Given the description of an element on the screen output the (x, y) to click on. 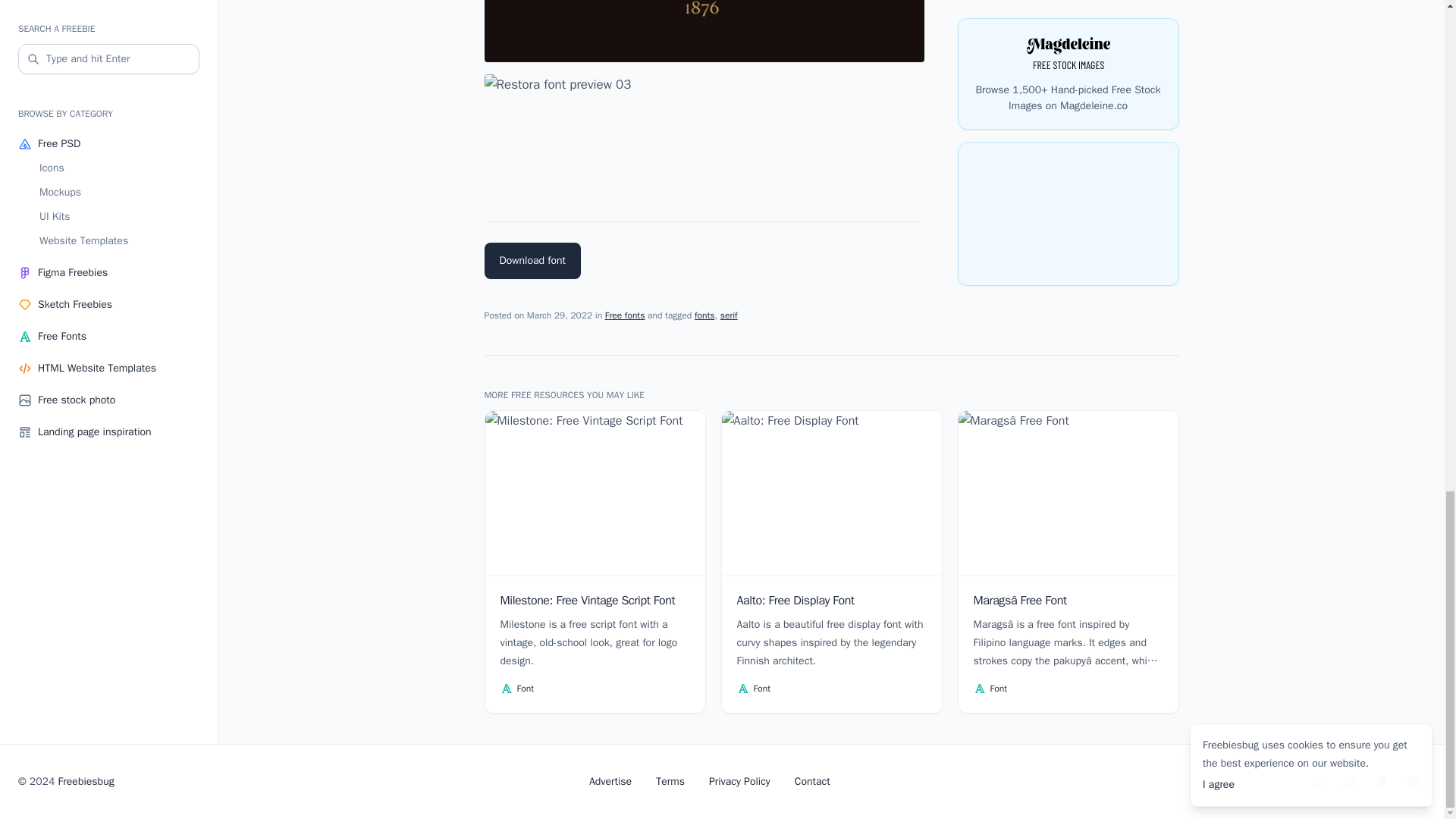
Free fonts (625, 315)
Milestone: Free Vintage Script Font (587, 599)
Privacy Policy (739, 780)
fonts (704, 315)
Download font (531, 260)
Terms (670, 780)
serif (729, 315)
Contact (811, 780)
Freebiesbug (86, 780)
Advertise (610, 780)
